Given the description of an element on the screen output the (x, y) to click on. 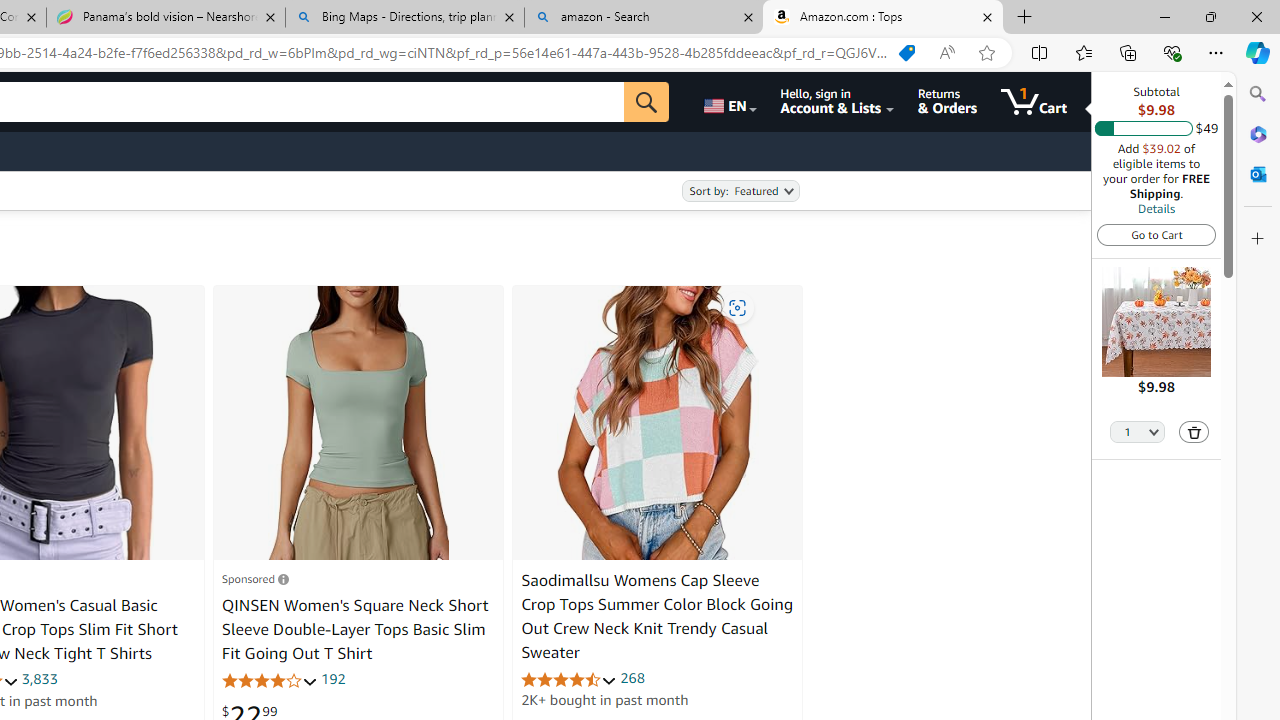
268 (632, 678)
amazon - Search (643, 17)
192 (332, 678)
Returns & Orders (946, 101)
1 item in cart (1034, 101)
Sort by: (740, 191)
Delete (1193, 431)
